Given the description of an element on the screen output the (x, y) to click on. 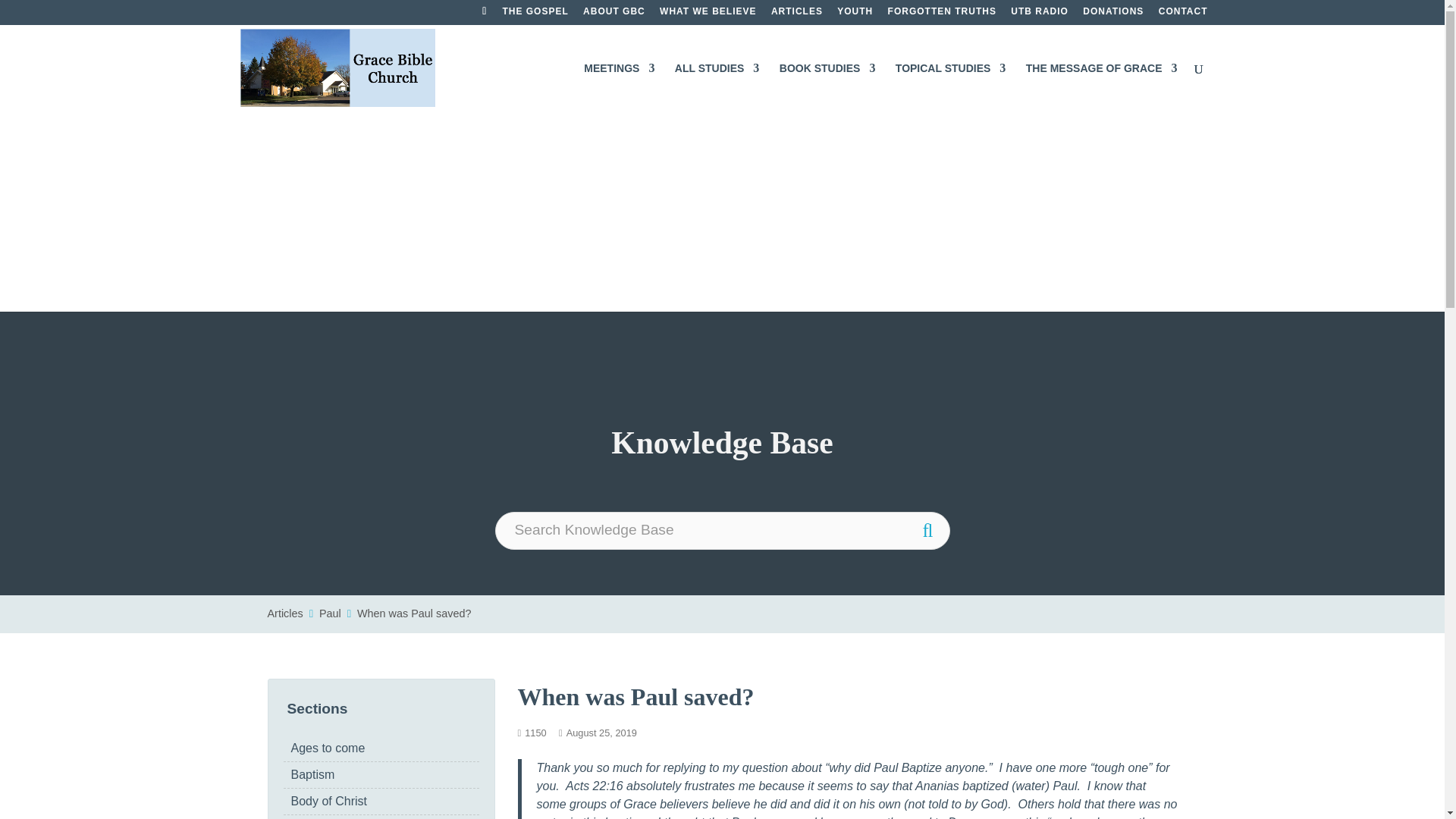
DONATIONS (1112, 14)
TOPICAL STUDIES (950, 86)
ARTICLES (796, 14)
FORGOTTEN TRUTHS (941, 14)
BOOK STUDIES (827, 86)
WHAT WE BELIEVE (707, 14)
UTB RADIO (1039, 14)
YOUTH (854, 14)
THE GOSPEL (534, 14)
CONTACT (1183, 14)
